Given the description of an element on the screen output the (x, y) to click on. 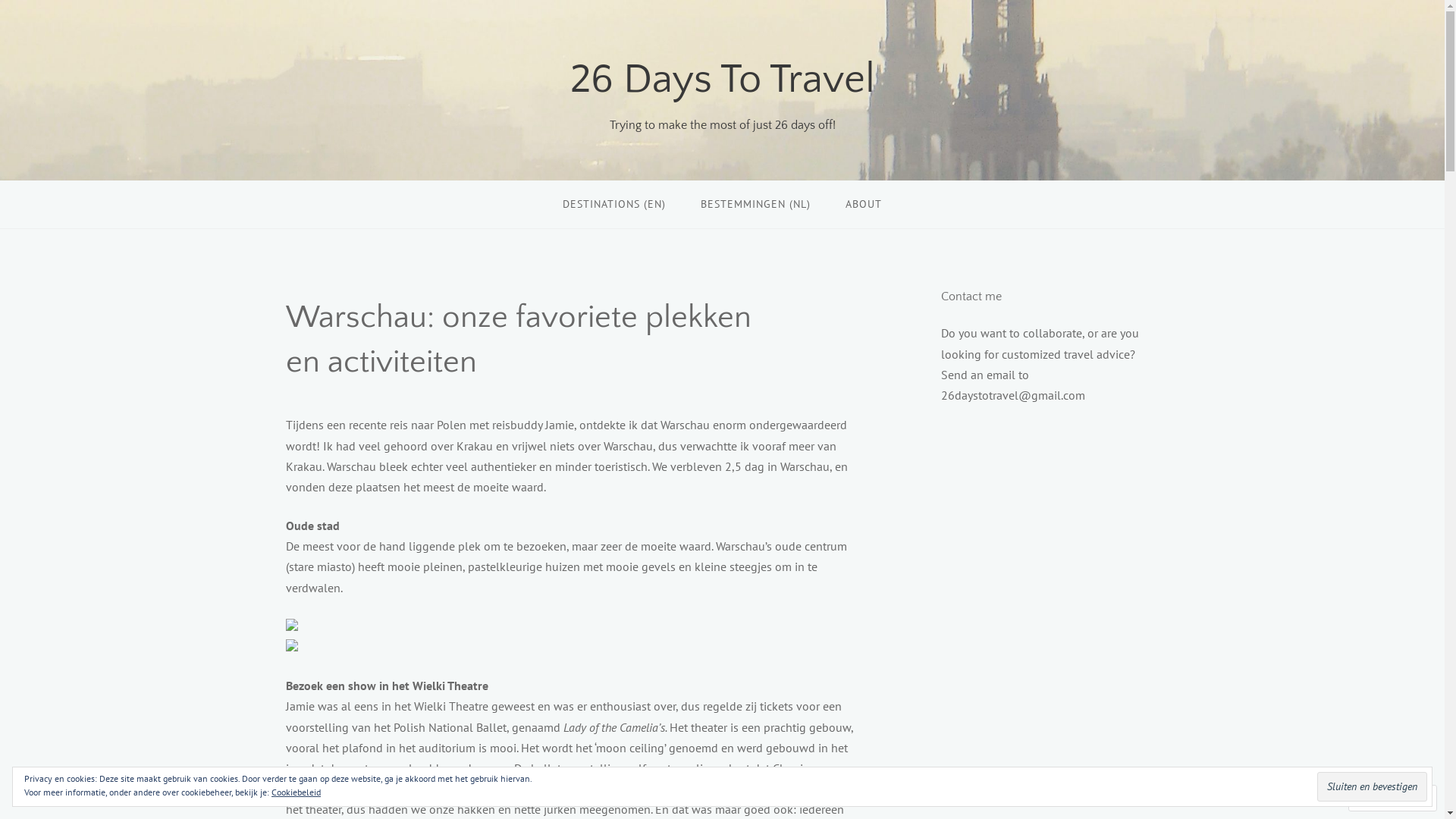
Sluiten en bevestigen Element type: text (1372, 786)
26 Days To Travel Element type: text (722, 79)
Cookiebeleid Element type: text (295, 791)
BESTEMMINGEN (NL) Element type: text (755, 204)
DESTINATIONS (EN) Element type: text (613, 204)
Volg Element type: text (1377, 797)
ABOUT Element type: text (863, 204)
